Given the description of an element on the screen output the (x, y) to click on. 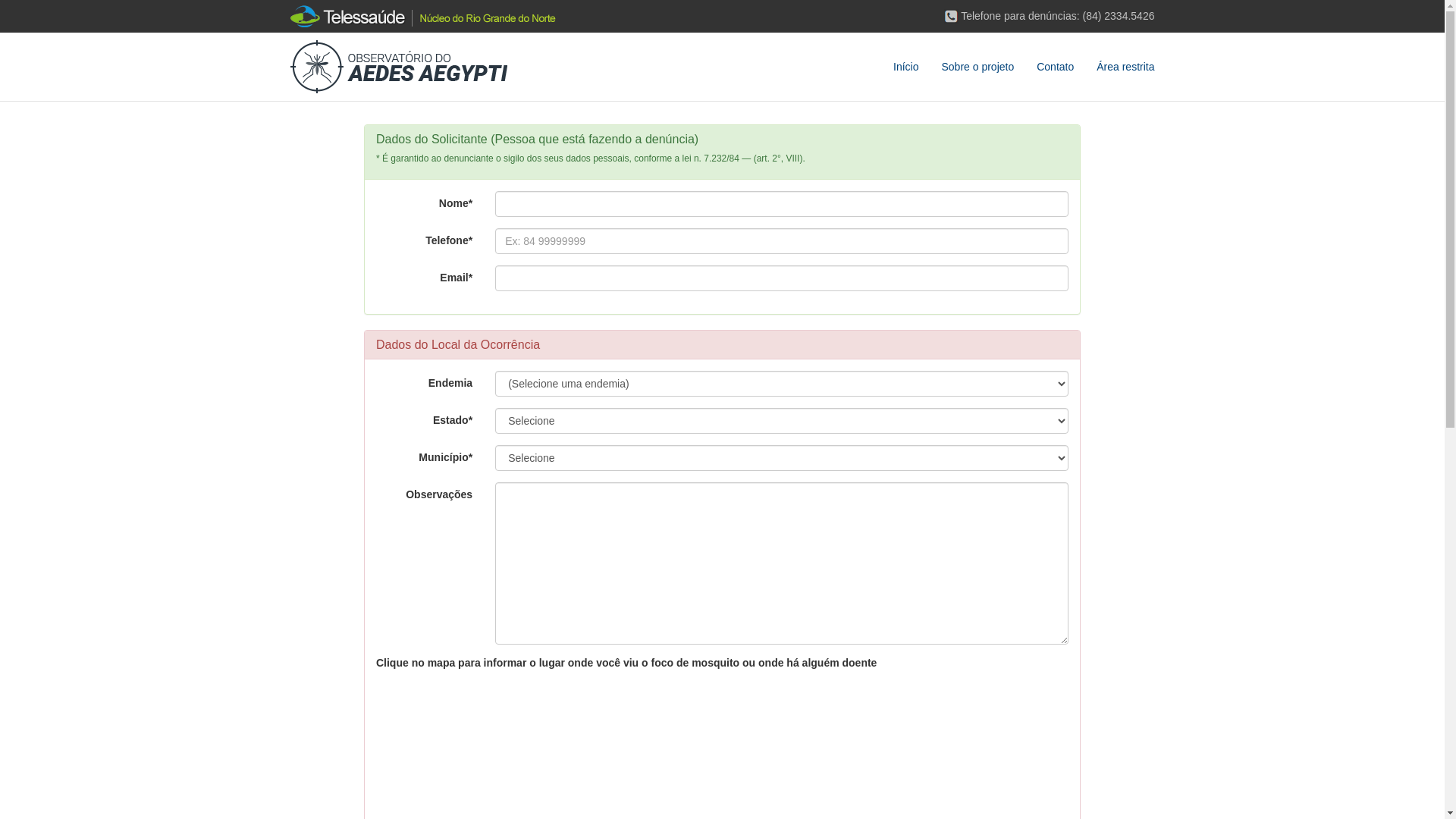
Sobre o projeto Element type: text (977, 66)
Contato Element type: text (1055, 66)
